Given the description of an element on the screen output the (x, y) to click on. 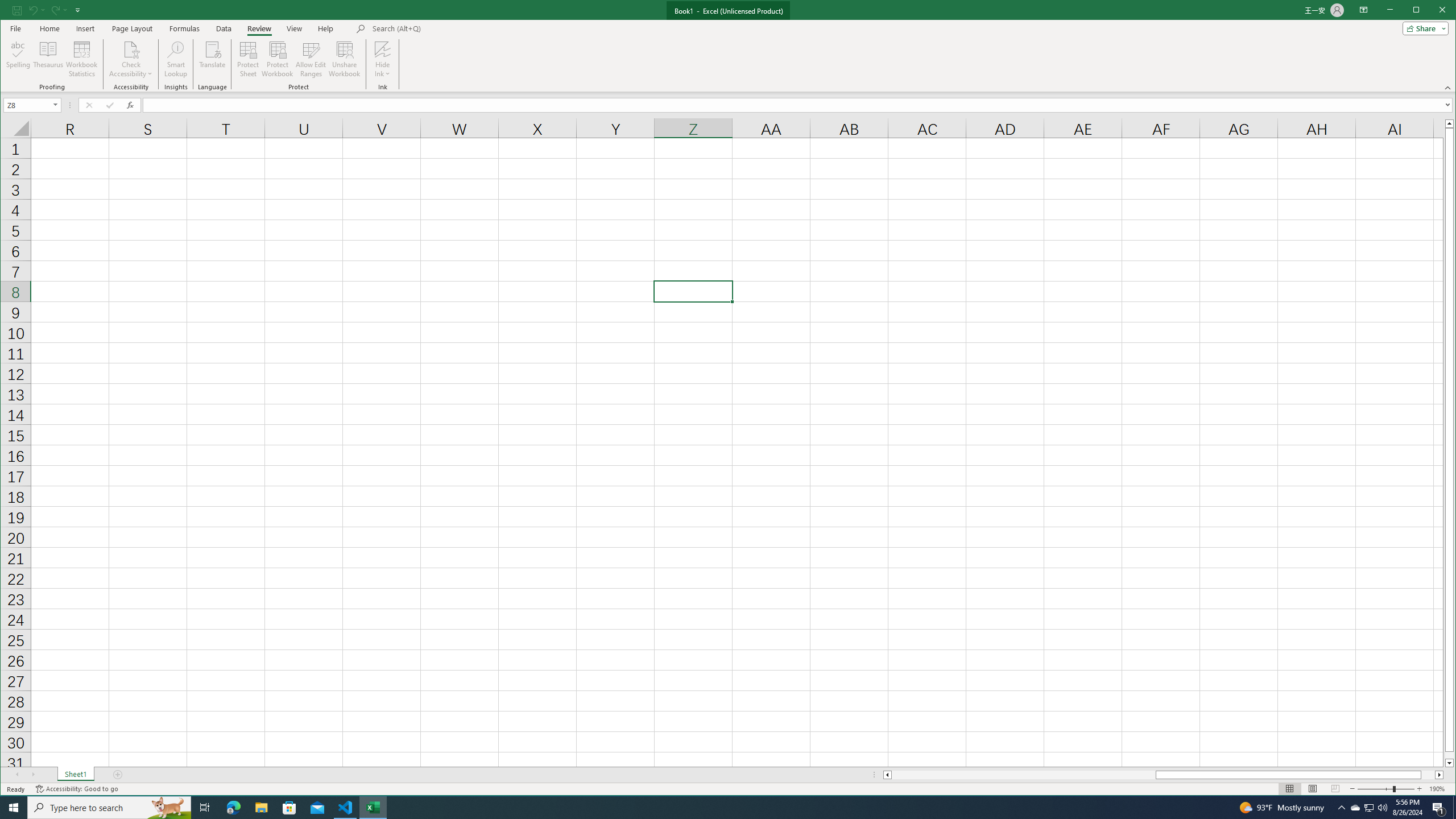
Translate (212, 59)
Visual Studio Code - 1 running window (345, 807)
Unshare Workbook (344, 59)
Thesaurus... (48, 59)
Spelling... (18, 59)
